Given the description of an element on the screen output the (x, y) to click on. 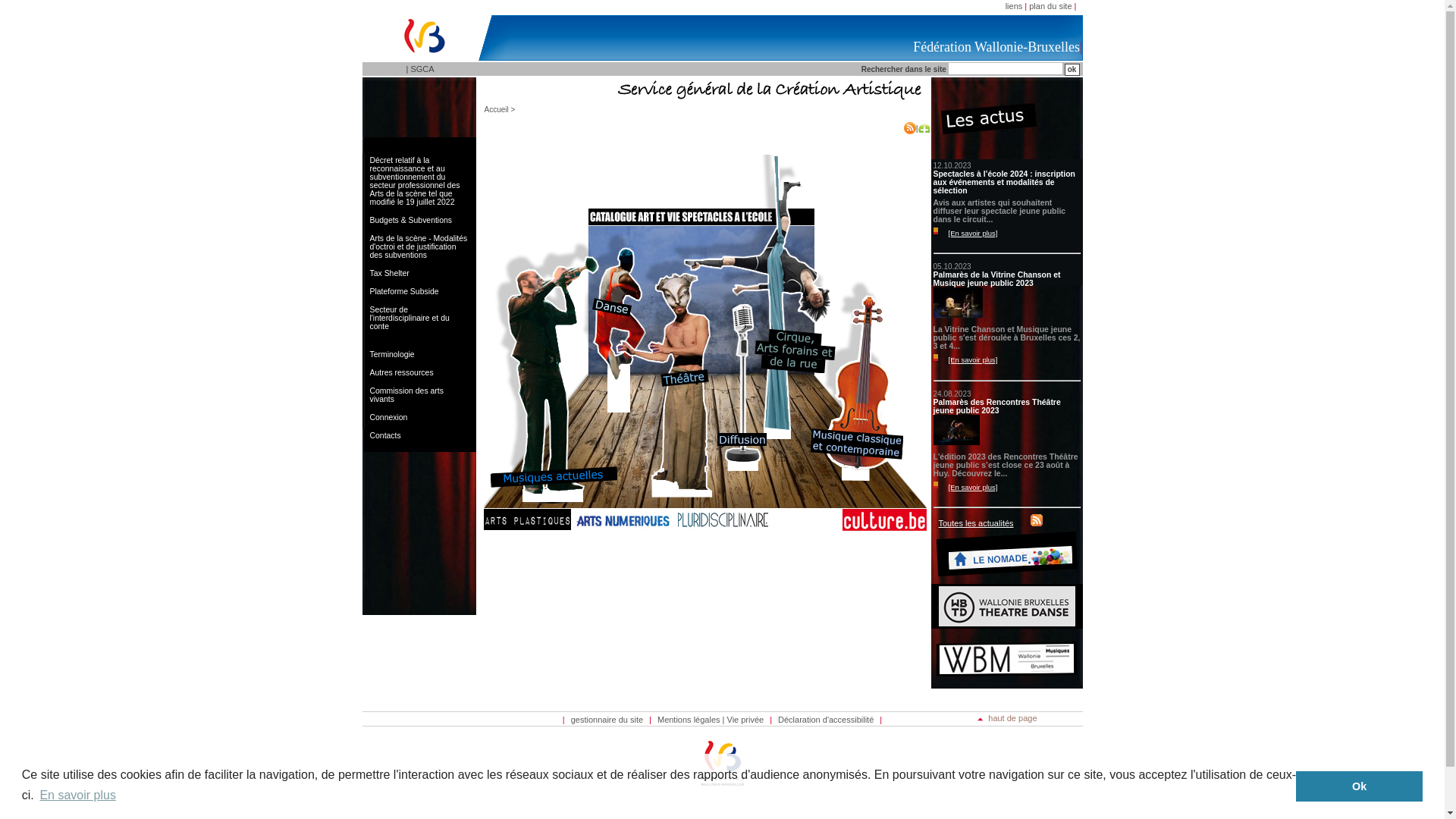
Terminologie Element type: text (419, 354)
Contacts Element type: text (419, 435)
Plus de choix Element type: hover (922, 127)
fils RSS Element type: hover (1036, 520)
[En savoir plus] Element type: text (970, 233)
  Element type: text (1034, 522)
En savoir plus Element type: text (77, 795)
Budgets & Subventions Element type: text (419, 220)
[En savoir plus] Element type: text (970, 487)
plan du site Element type: text (1050, 5)
haut de page Element type: text (1006, 717)
[En savoir plus] Element type: text (970, 359)
Secteur de l'interdisciplinaire et du conte Element type: text (419, 317)
gestionnaire du site Element type: text (607, 719)
Connexion Element type: text (419, 417)
ok Element type: text (1071, 69)
Plateforme Subside Element type: text (419, 291)
Autres ressources Element type: text (419, 372)
Tax Shelter Element type: text (419, 273)
Commission des arts vivants Element type: text (419, 394)
liens Element type: text (1013, 5)
Ok Element type: text (1358, 786)
rechercher Element type: hover (1071, 69)
Consultez le catalogue Le Nomade Element type: hover (1006, 581)
